Given the description of an element on the screen output the (x, y) to click on. 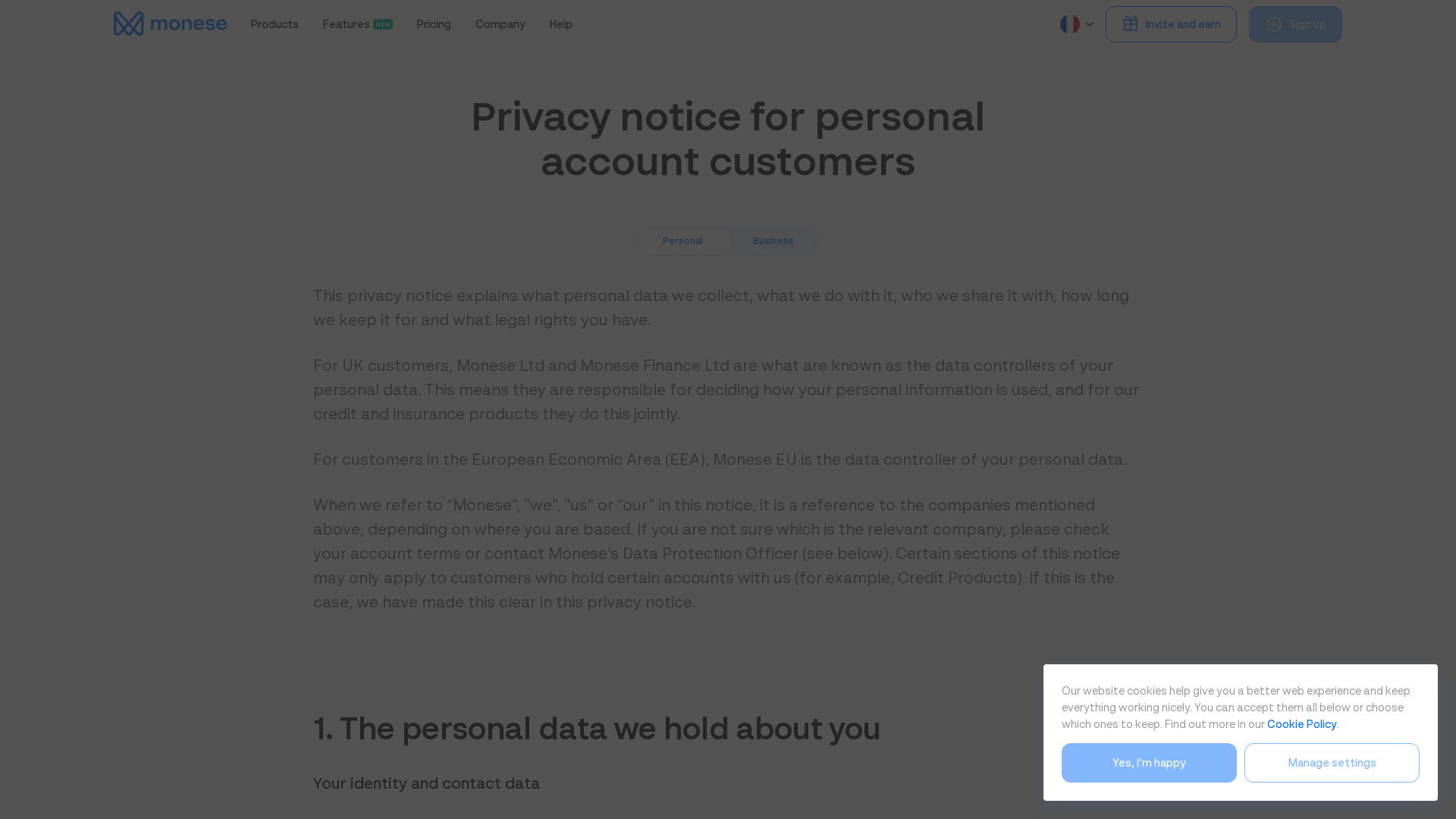
Products (274, 24)
Pricing (433, 24)
Help (358, 24)
Company (561, 24)
